Given the description of an element on the screen output the (x, y) to click on. 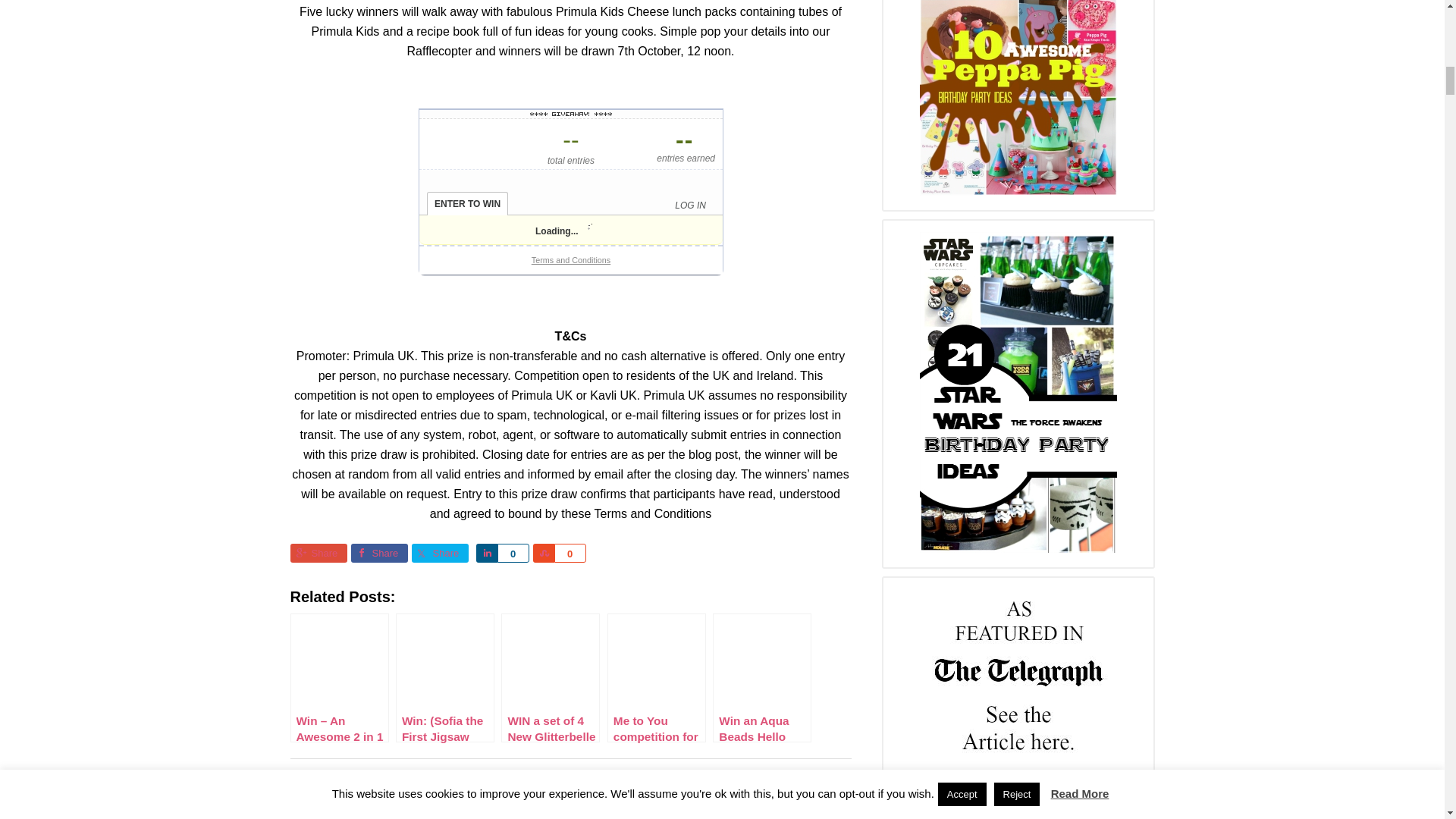
Share (542, 552)
Share (317, 552)
Share (486, 552)
0 (569, 552)
Share (438, 552)
0 (513, 552)
Share (378, 552)
